Given the description of an element on the screen output the (x, y) to click on. 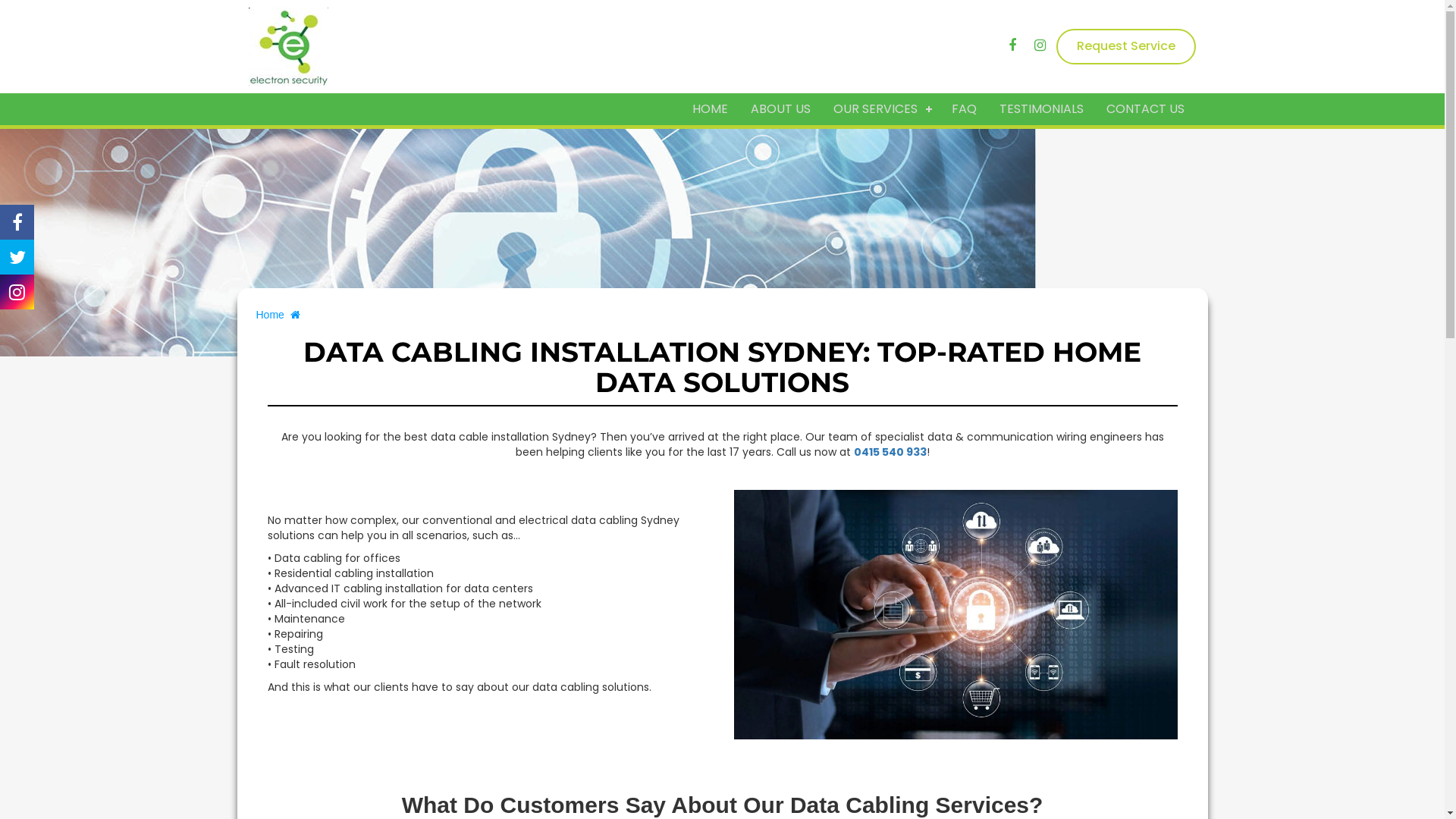
0415 540 933 Element type: text (889, 451)
TESTIMONIALS Element type: text (1041, 109)
share with: twitter Element type: hover (17, 256)
Request Service Element type: text (1125, 46)
HOME Element type: text (709, 109)
share with: facebook Element type: hover (17, 221)
ABOUT US Element type: text (780, 109)
welcome Element type: hover (955, 614)
Electron Security Element type: hover (288, 46)
CONTACT US Element type: text (1145, 109)
FAQ Element type: text (964, 109)
share with: instagram Element type: hover (17, 291)
OUR SERVICES Element type: text (881, 109)
Home   Element type: text (278, 314)
Request Service Element type: text (1125, 45)
